Given the description of an element on the screen output the (x, y) to click on. 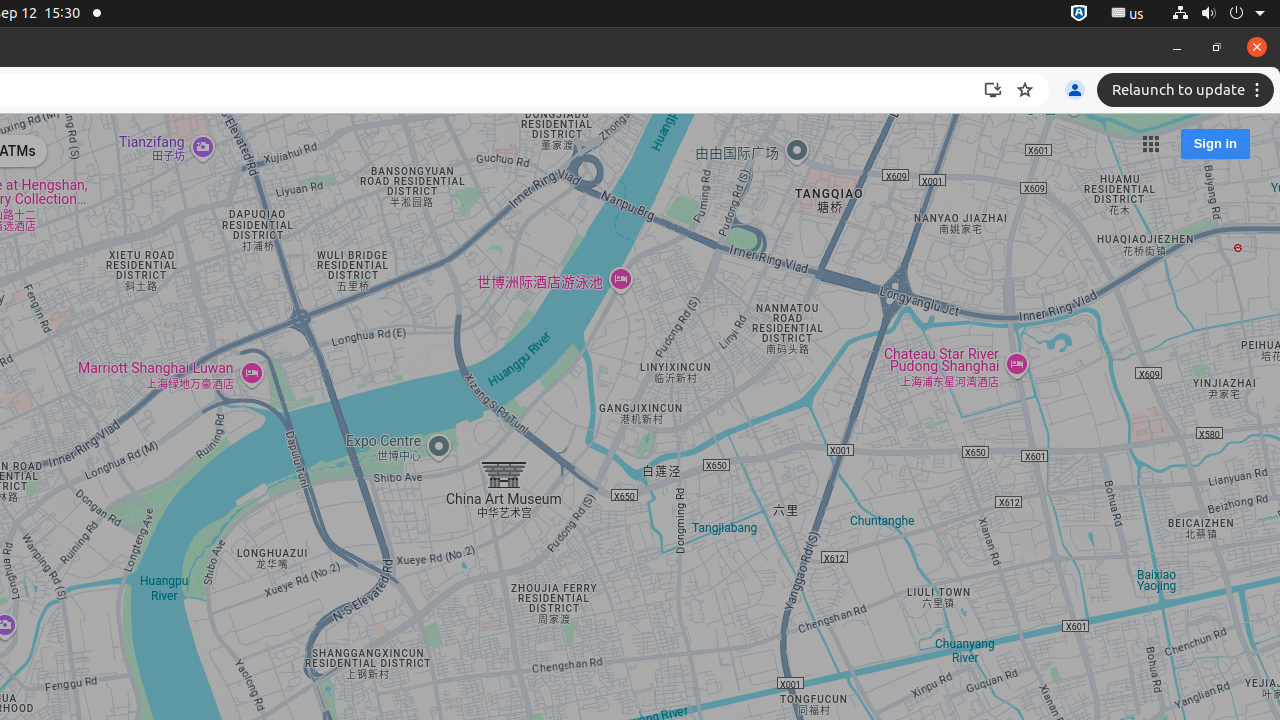
:1.72/StatusNotifierItem Element type: menu (1079, 13)
Relaunch to update Element type: push-button (1188, 90)
You Element type: push-button (1075, 90)
System Element type: menu (1218, 13)
:1.21/StatusNotifierItem Element type: menu (1127, 13)
